Given the description of an element on the screen output the (x, y) to click on. 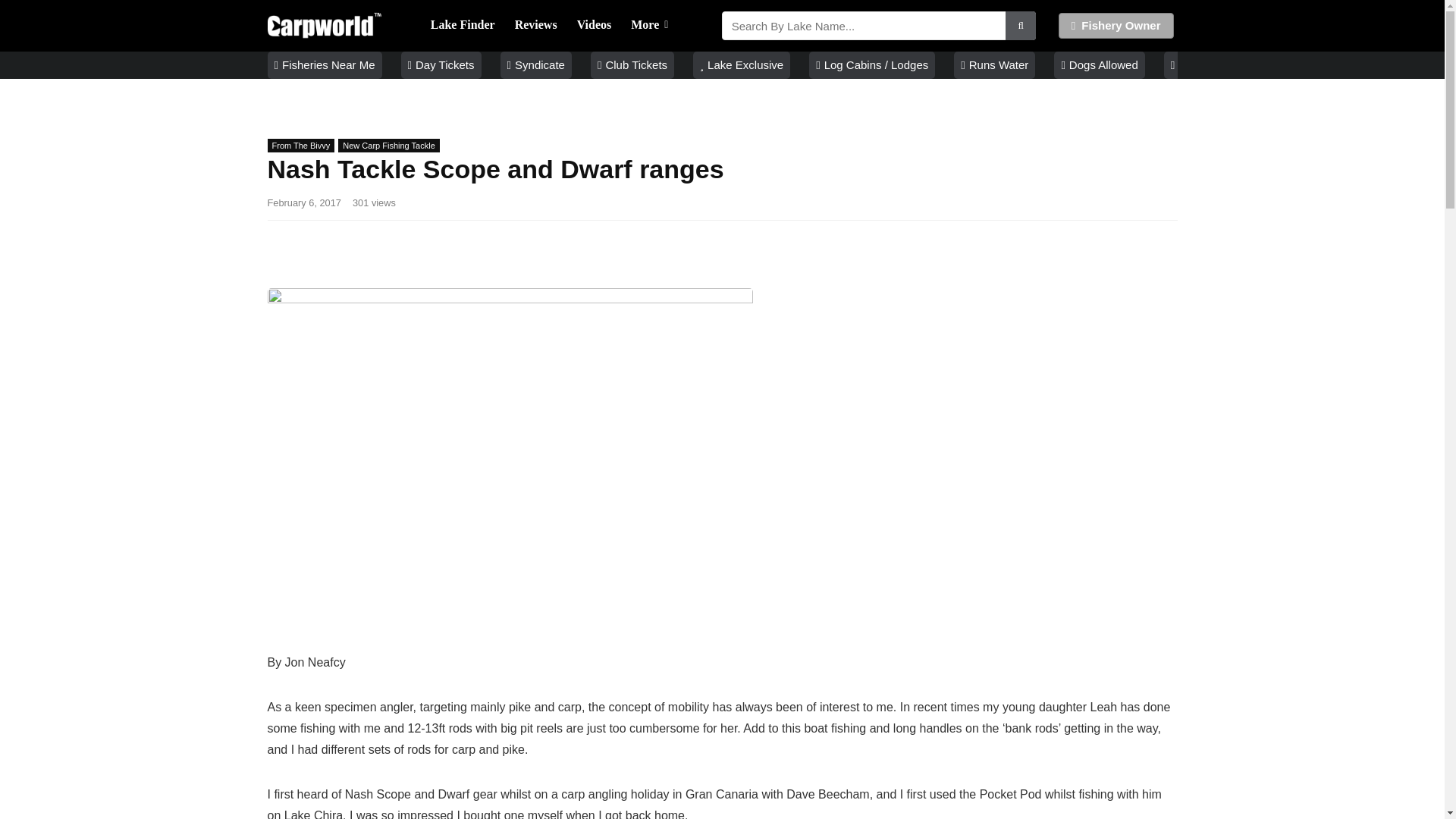
Carp Fishing Videos (594, 25)
Day Tickets (441, 64)
Syndicate (536, 64)
Fishery Owner (1115, 25)
View all posts in From The Bivvy (300, 145)
Dogs Allowed (1099, 64)
From The Bivvy (300, 145)
Lake Exclusive (741, 64)
New Carp Fishing Tackle (388, 145)
Carp Fishing Tackle Reviews (536, 25)
